Given the description of an element on the screen output the (x, y) to click on. 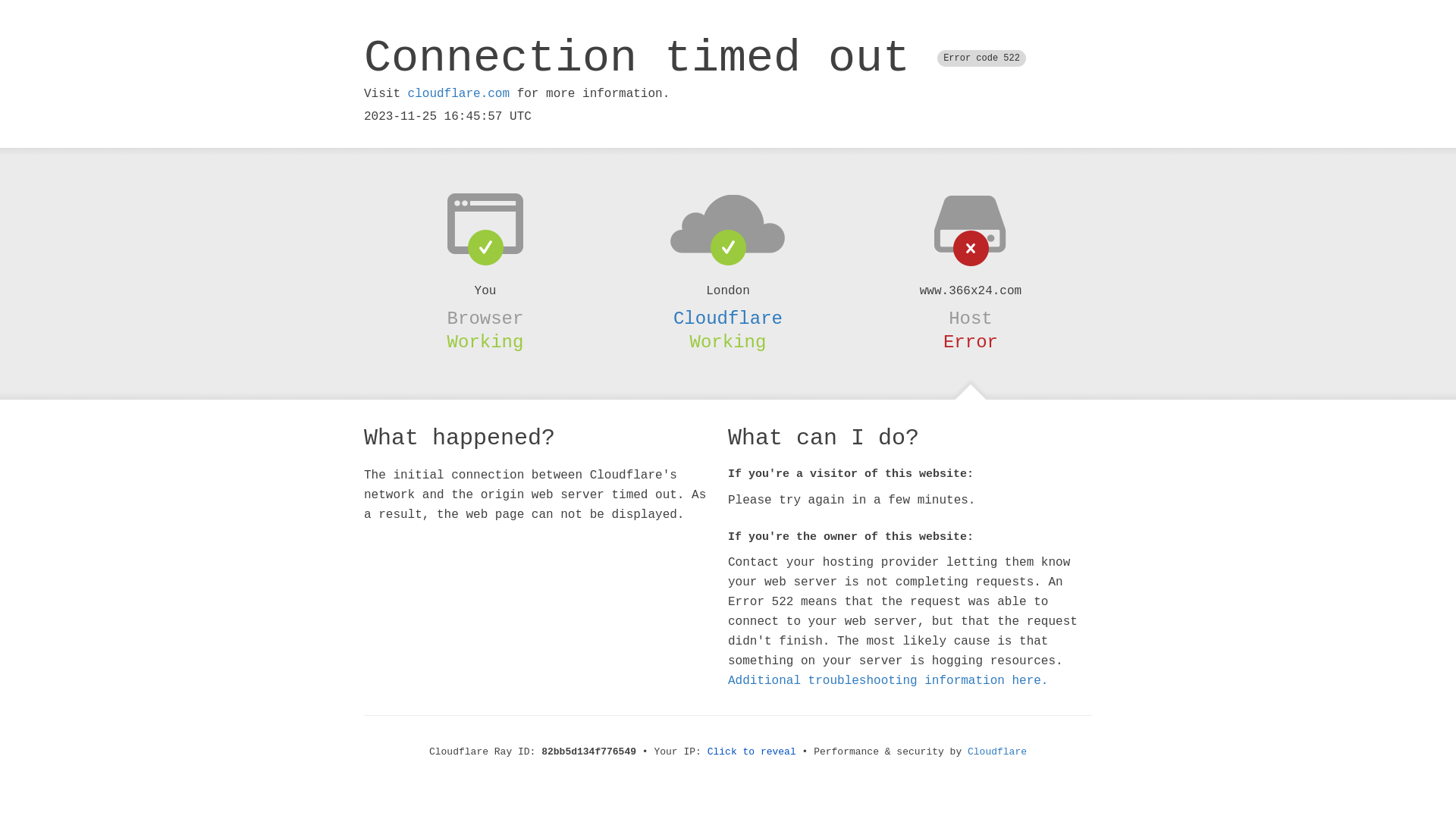
Cloudflare Element type: text (727, 318)
cloudflare.com Element type: text (458, 93)
Cloudflare Element type: text (996, 751)
Click to reveal Element type: text (751, 751)
Additional troubleshooting information here. Element type: text (888, 680)
